Given the description of an element on the screen output the (x, y) to click on. 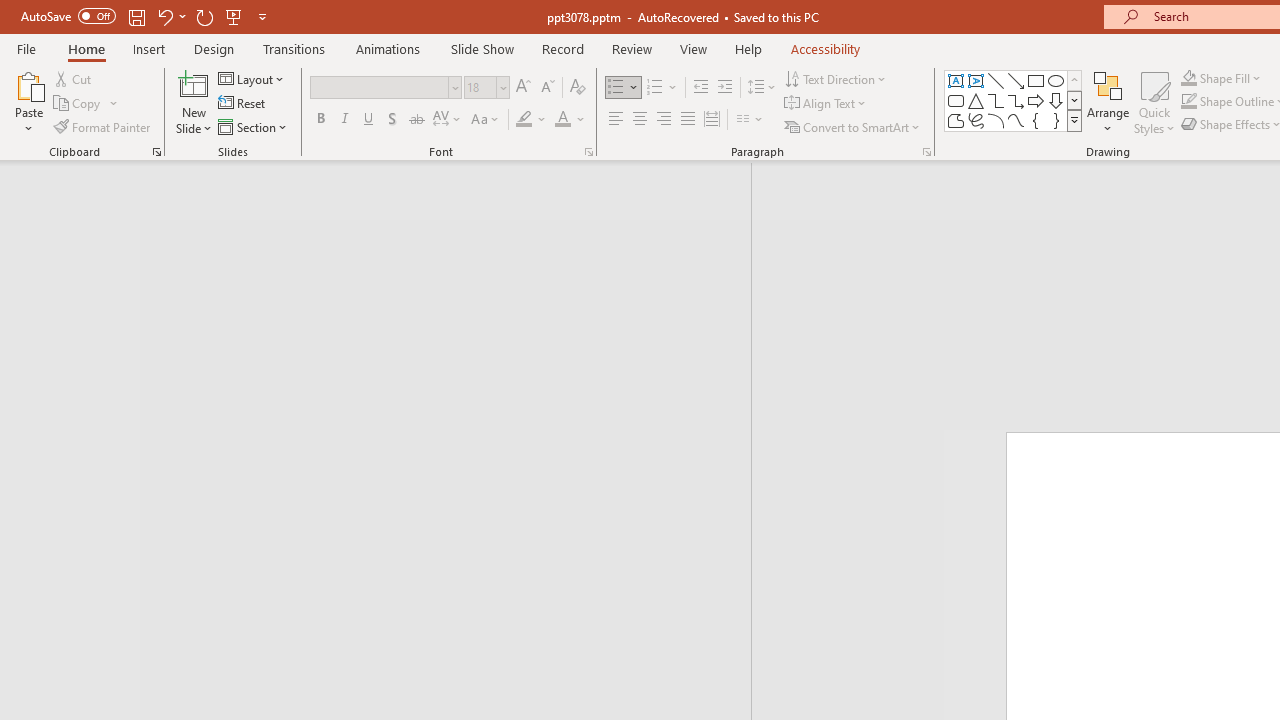
Outline (384, 215)
